Given the description of an element on the screen output the (x, y) to click on. 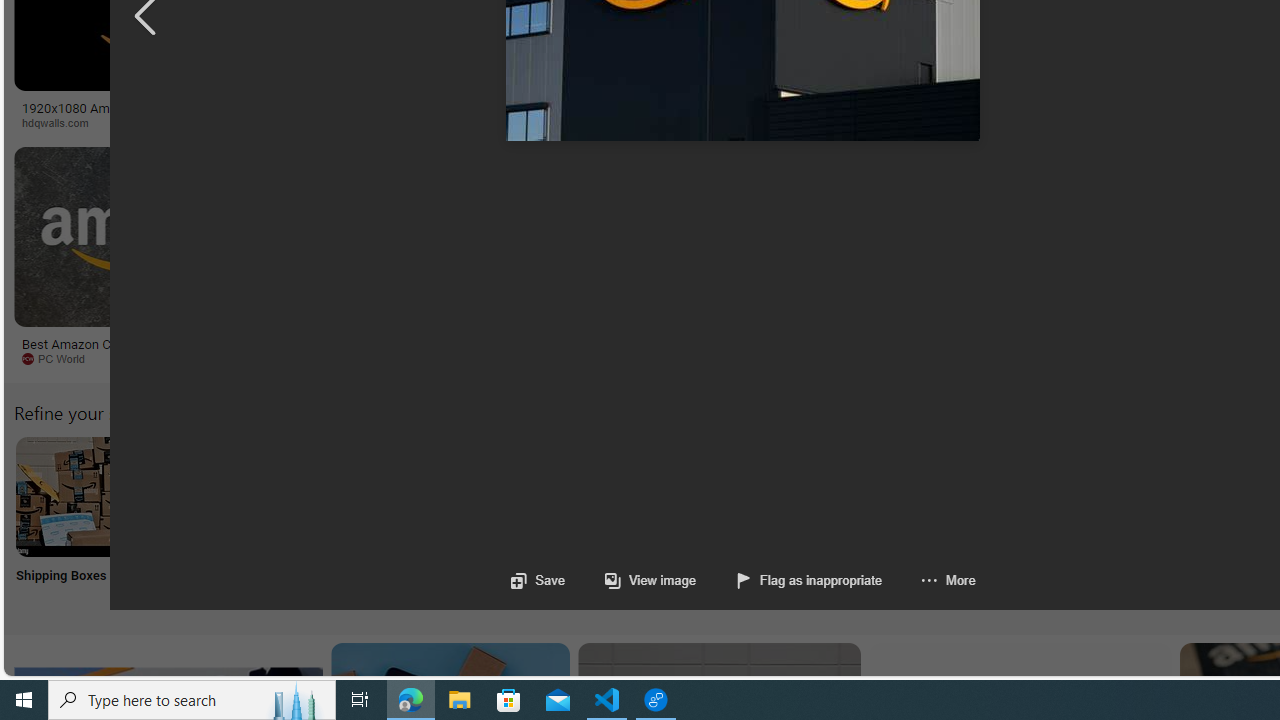
Save (537, 580)
Amazon Log into My Account (472, 496)
Amazon Retail Store (867, 496)
Image result for amazon (936, 236)
GOBankingRates (485, 123)
Jobs Near Me (604, 521)
Shipping Boxes (74, 521)
The Verge (419, 359)
PC World (146, 359)
Amazon Package Delivery (735, 496)
